Given the description of an element on the screen output the (x, y) to click on. 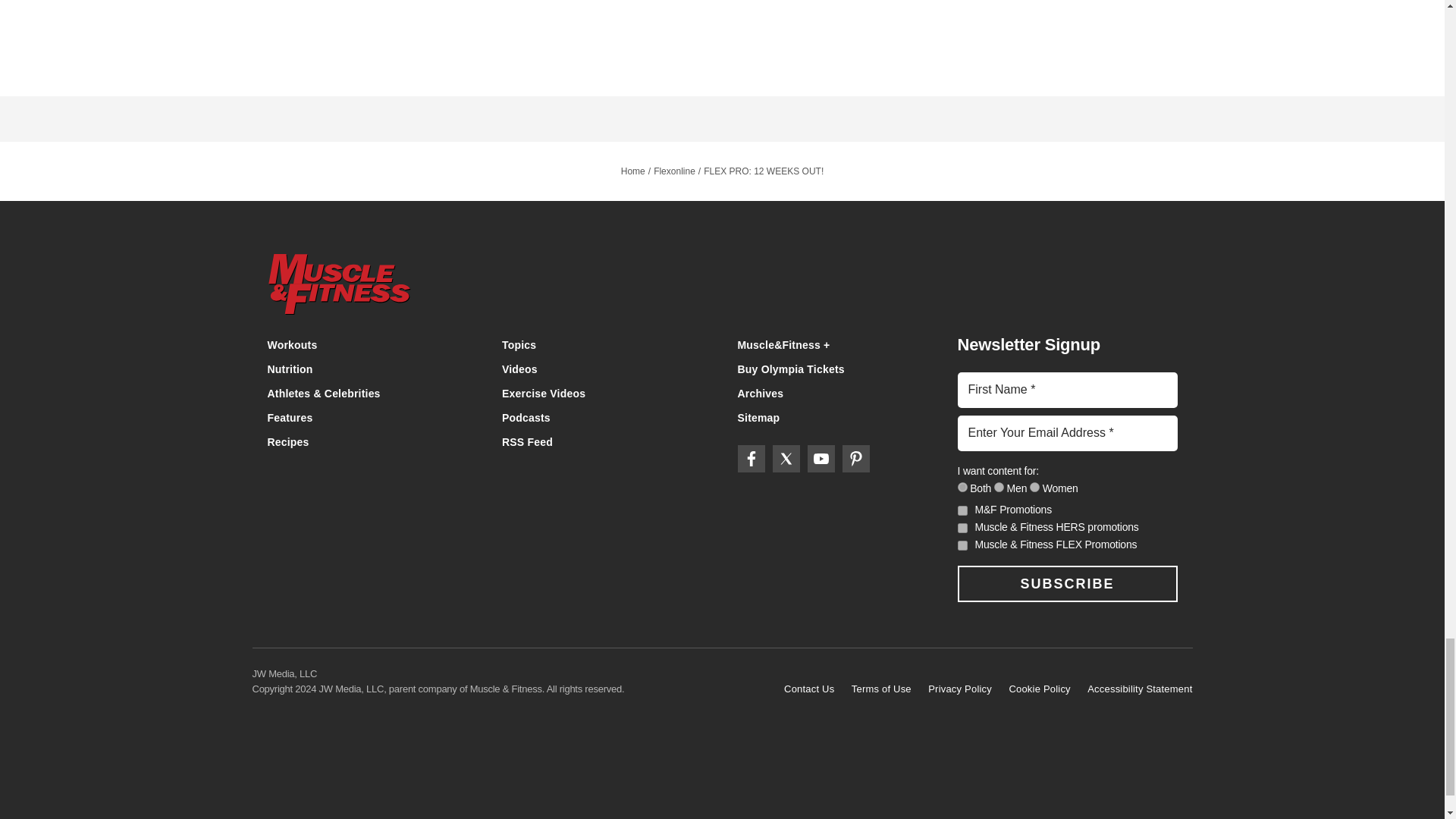
711 (961, 487)
713 (999, 487)
715 (1034, 487)
